Given the description of an element on the screen output the (x, y) to click on. 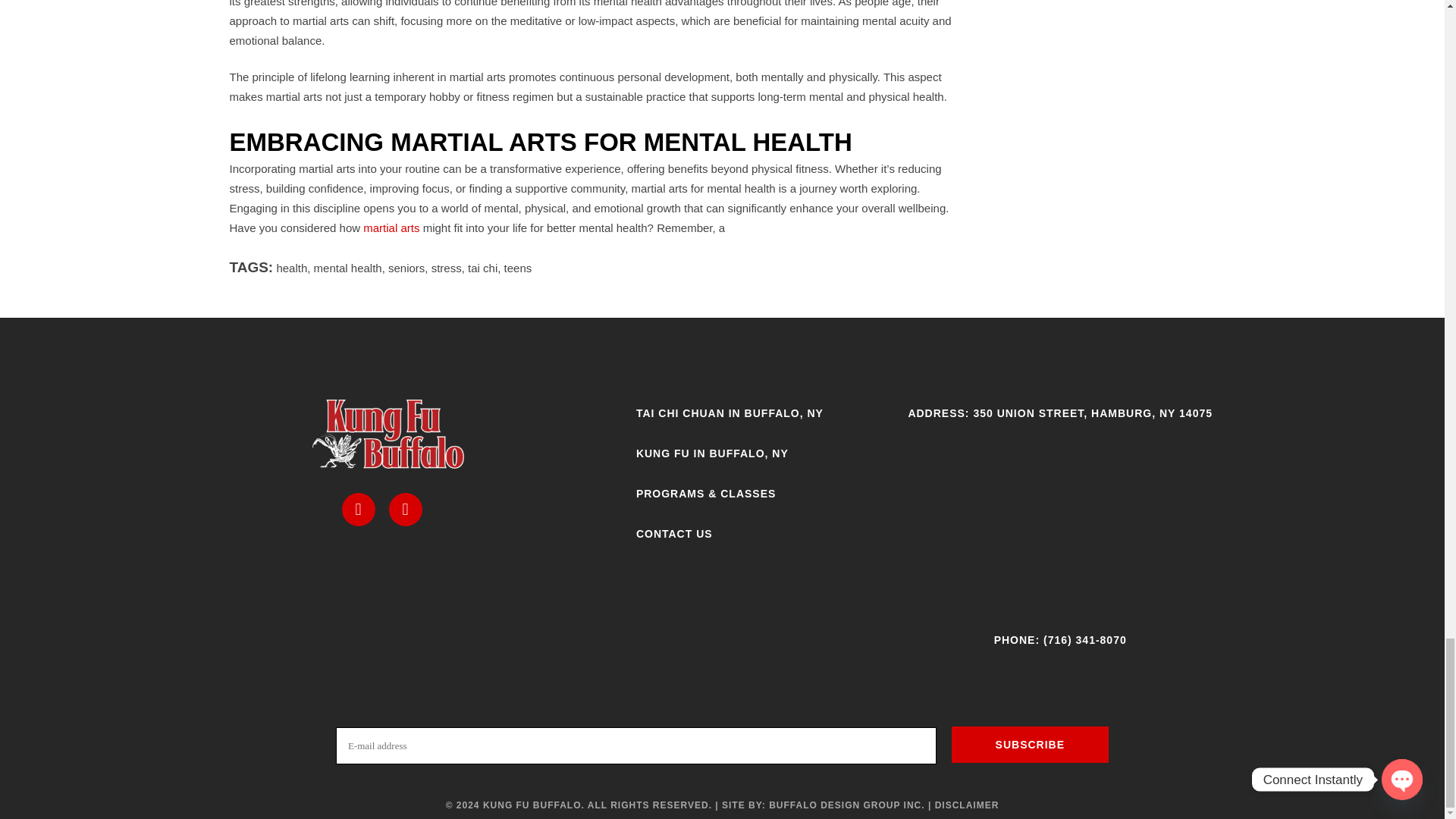
tai chi (482, 267)
mental health (347, 267)
health (291, 267)
martial arts (390, 227)
Subscribe (1030, 744)
stress (445, 267)
teens (517, 267)
seniors (406, 267)
